Given the description of an element on the screen output the (x, y) to click on. 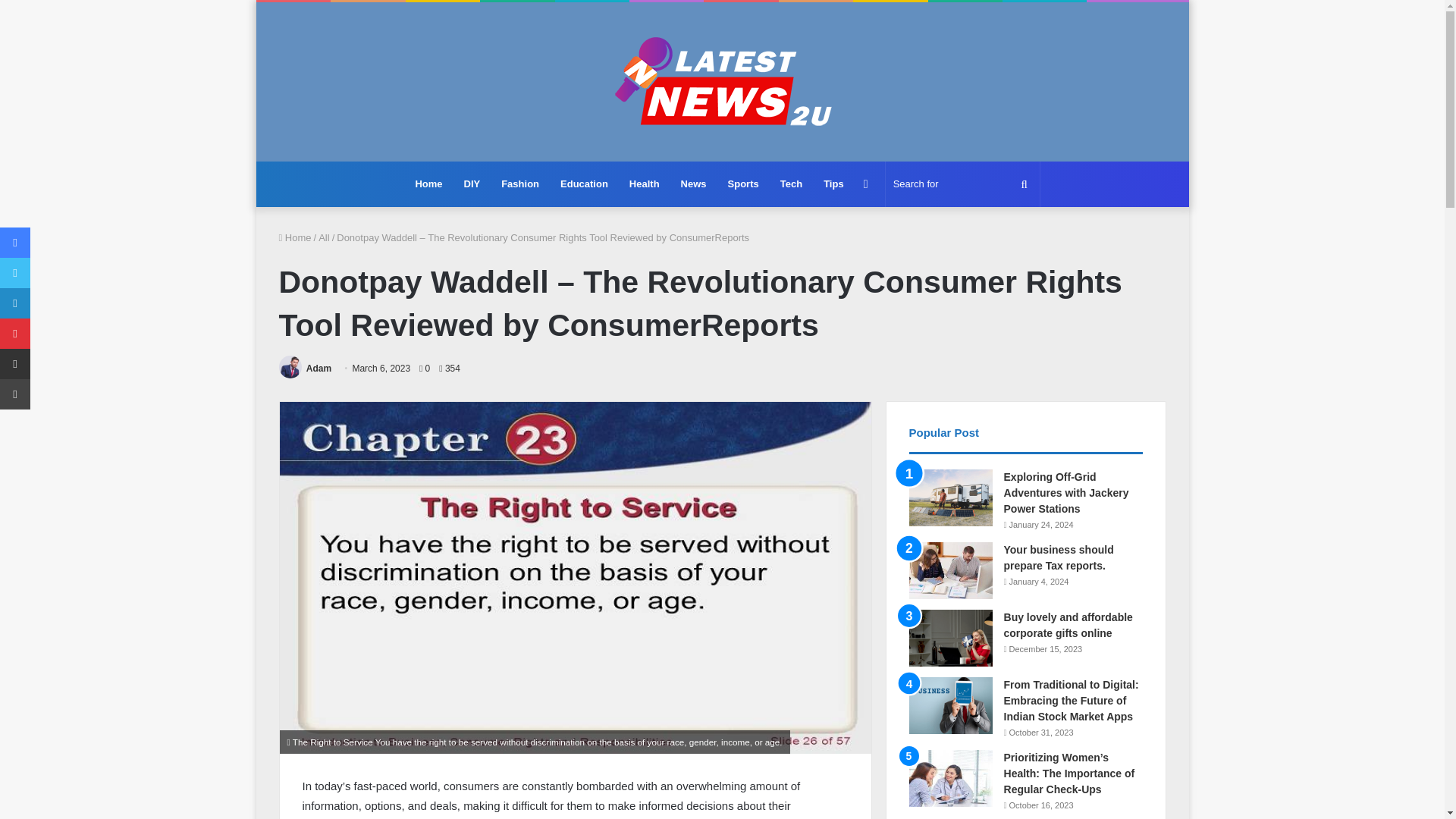
Home (428, 184)
Sports (743, 184)
Health (643, 184)
Tech (791, 184)
Fashion (520, 184)
Home (295, 237)
Search for (962, 184)
Education (584, 184)
News (693, 184)
Adam (318, 368)
